Given the description of an element on the screen output the (x, y) to click on. 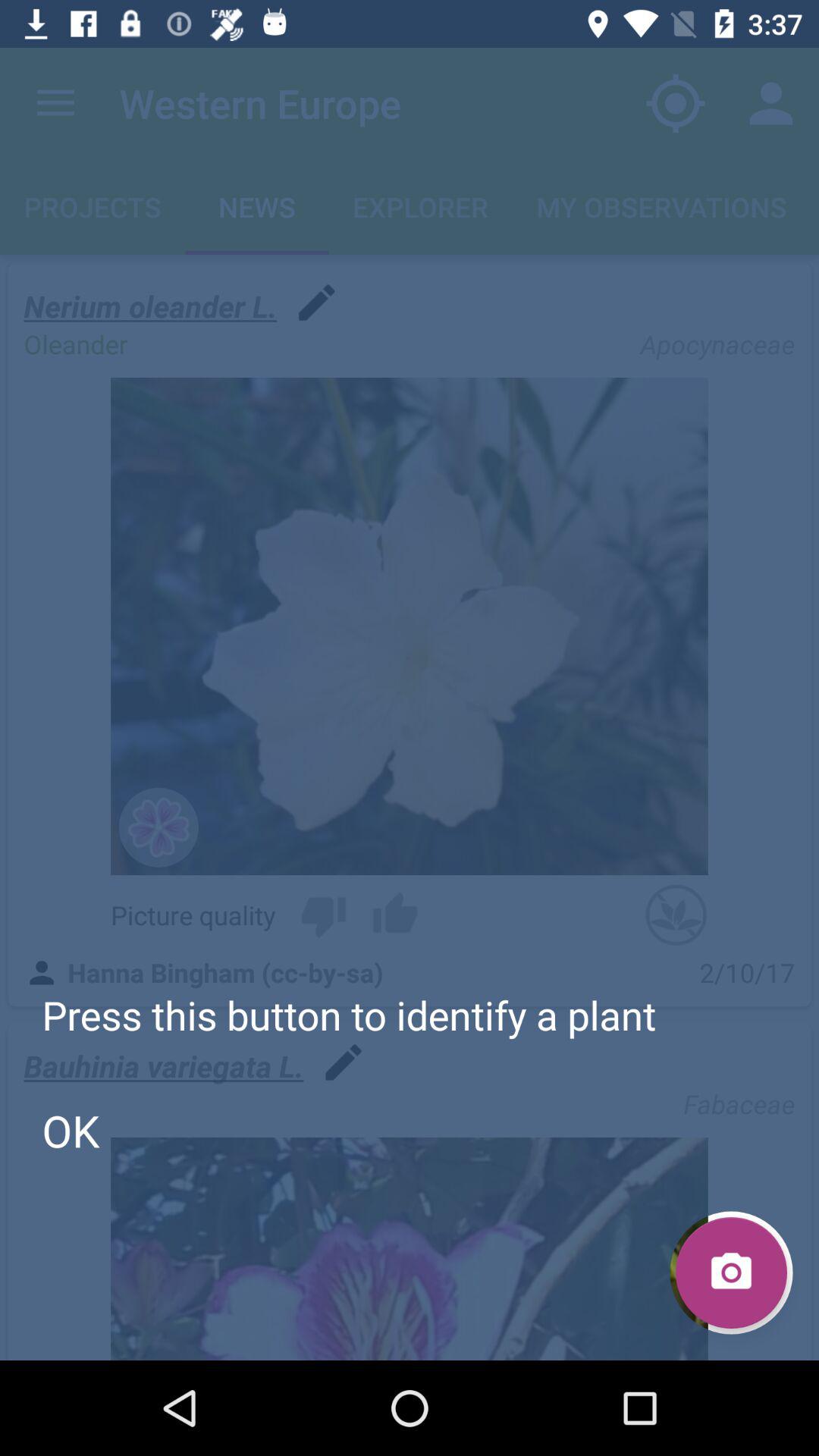
press the app to the left of western europe item (55, 103)
